Given the description of an element on the screen output the (x, y) to click on. 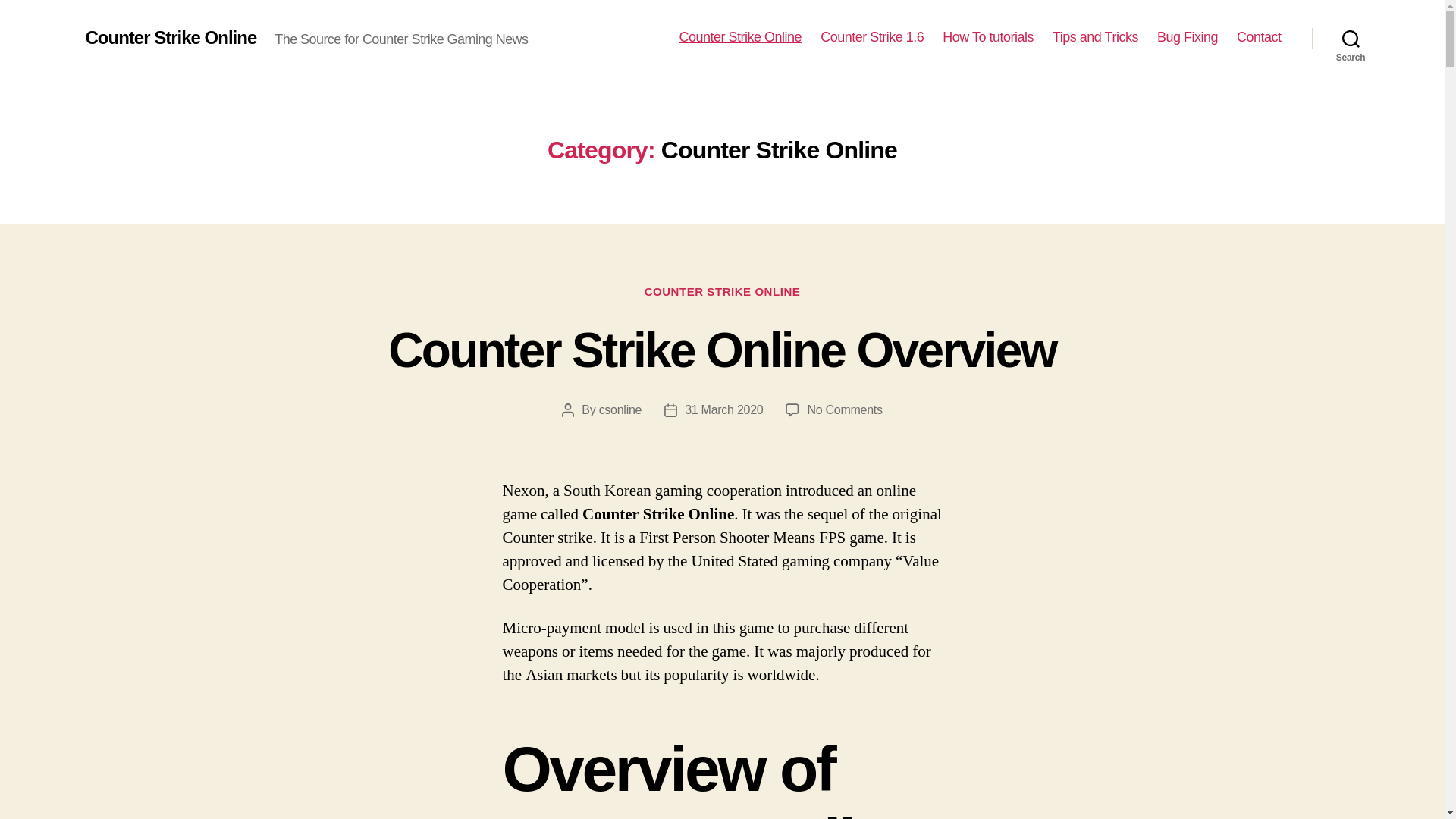
Counter Strike Online Overview (721, 349)
How To tutorials (987, 37)
csonline (620, 409)
Search (1350, 37)
Counter Strike 1.6 (872, 37)
Bug Fixing (1187, 37)
31 March 2020 (723, 409)
Tips and Tricks (844, 409)
Contact (1095, 37)
